Given the description of an element on the screen output the (x, y) to click on. 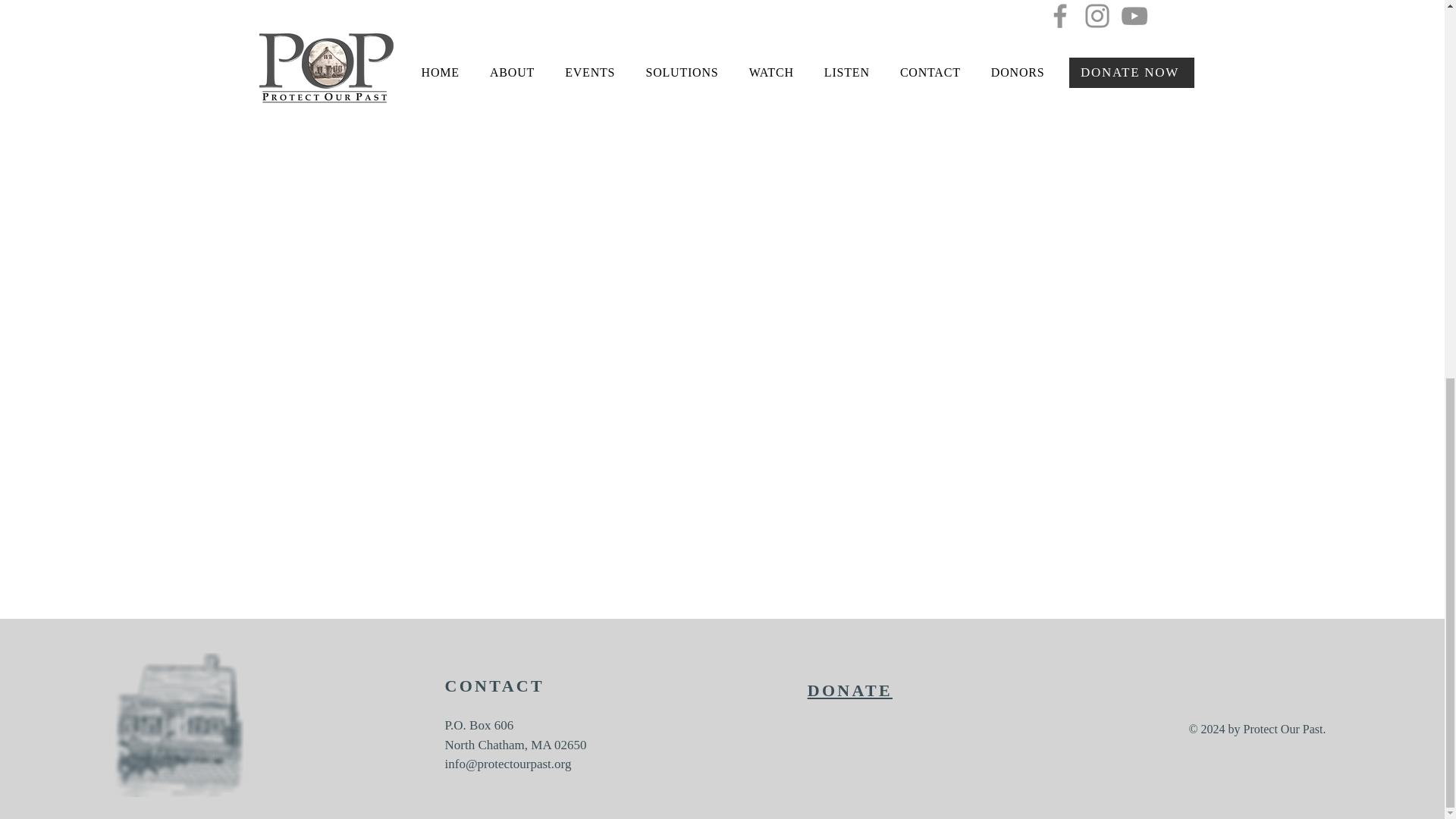
DONATE (850, 690)
navy house.png (179, 724)
